Given the description of an element on the screen output the (x, y) to click on. 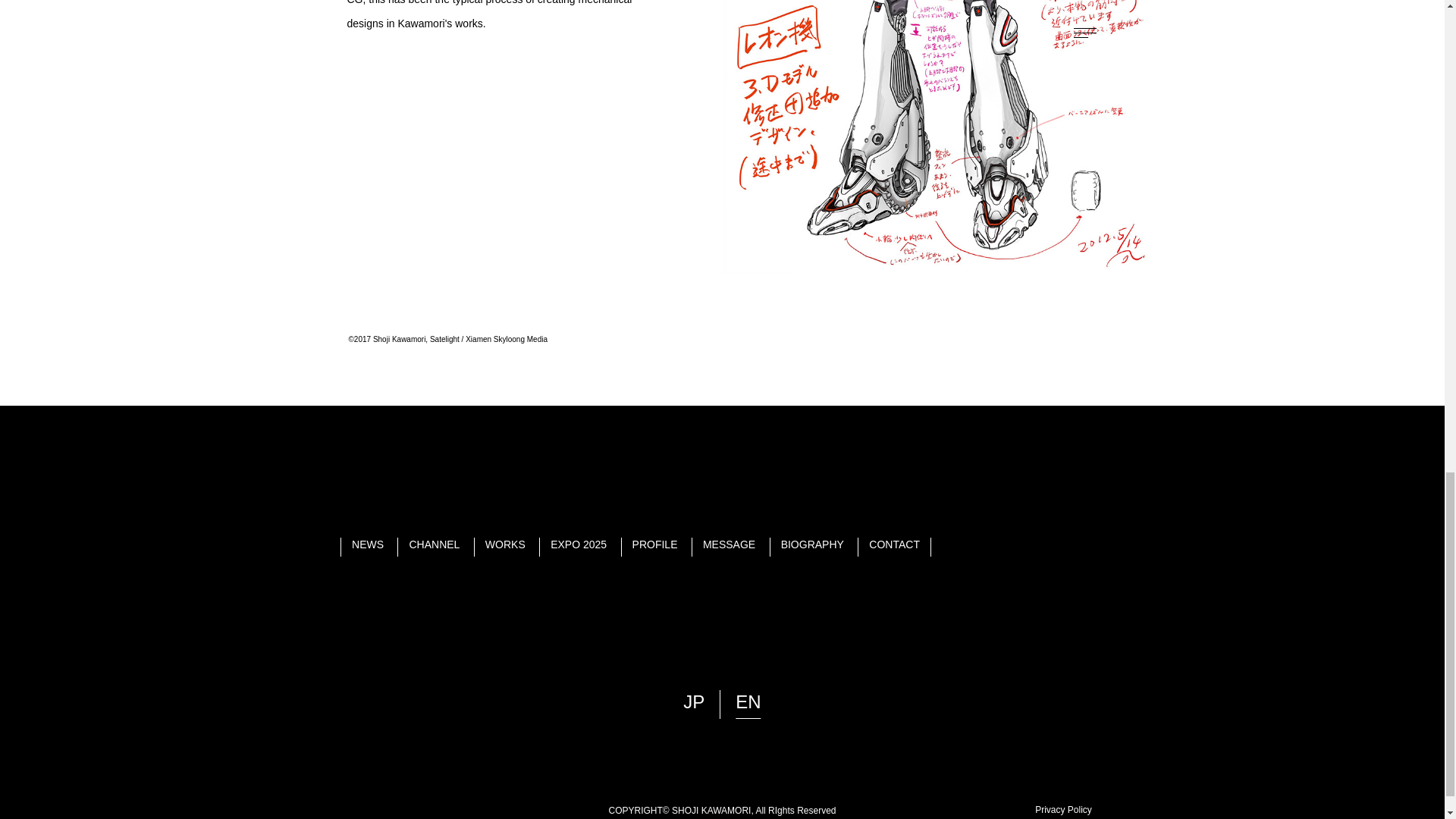
EN (748, 702)
BIOGRAPHY (812, 544)
EXPO 2025 (578, 544)
CHANNEL (434, 544)
CONTACT (894, 544)
Privacy Policy (1063, 809)
JP (693, 702)
PROFILE (654, 544)
NEWS (368, 544)
MESSAGE (729, 544)
WORKS (504, 544)
